Given the description of an element on the screen output the (x, y) to click on. 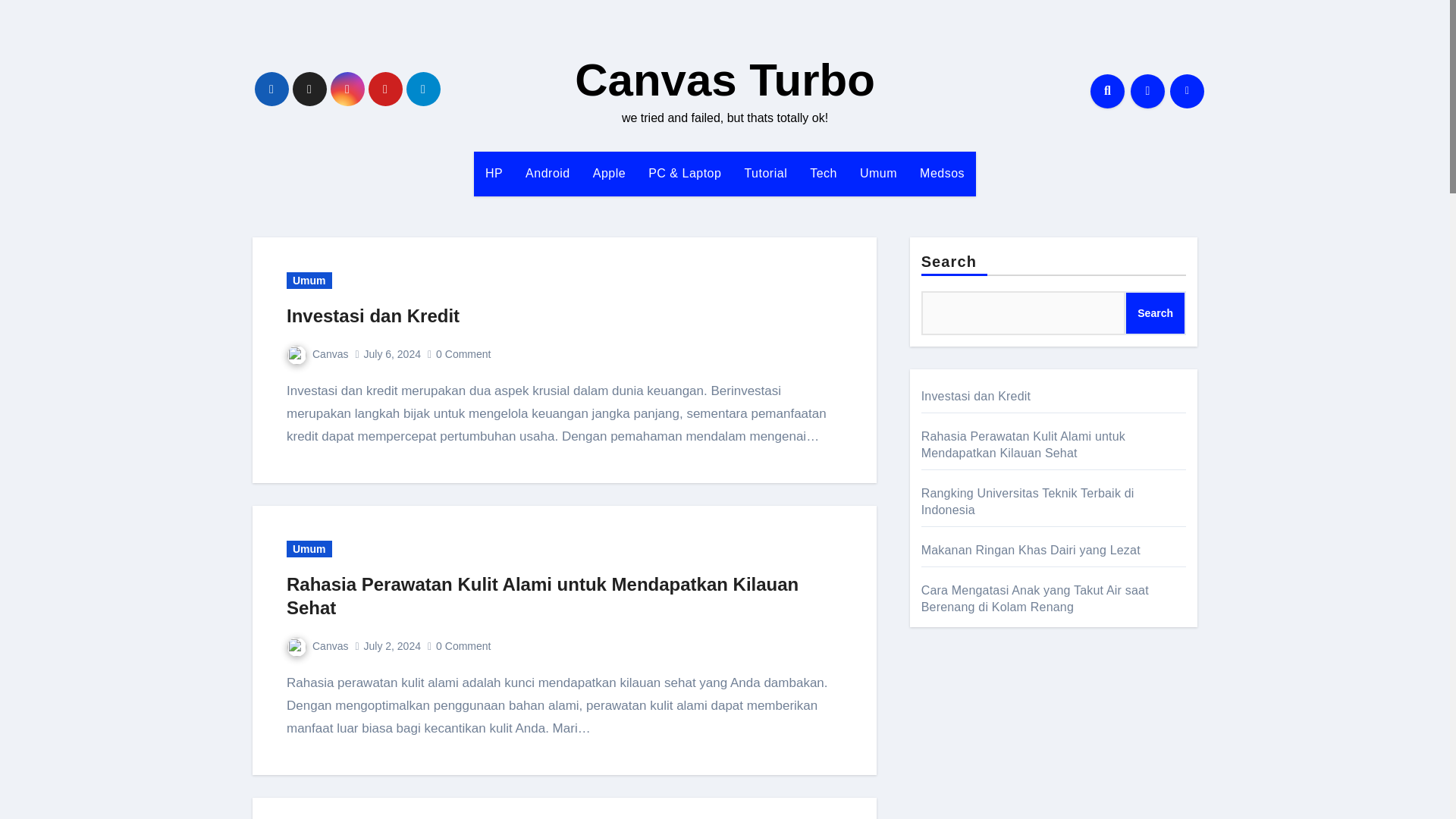
Canvas (316, 645)
July 6, 2024 (391, 354)
Medsos (941, 173)
Umum (308, 548)
Canvas Turbo (725, 79)
Android (546, 173)
Tech (822, 173)
Umum (878, 173)
Canvas (316, 354)
Tutorial (764, 173)
Apple (608, 173)
HP (493, 173)
Investasi dan Kredit (373, 315)
Tutorial (764, 173)
